Given the description of an element on the screen output the (x, y) to click on. 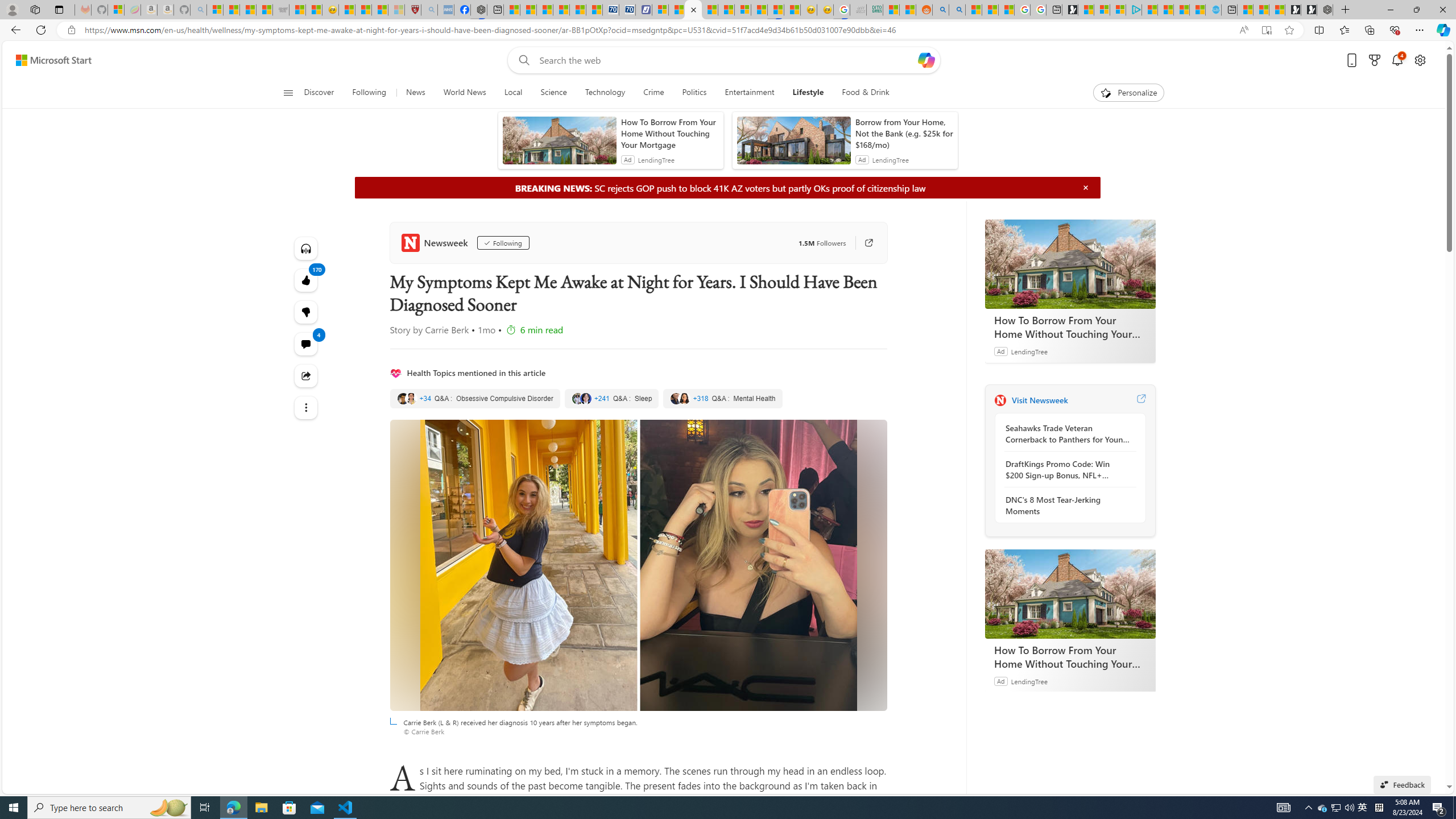
Mental Health (722, 398)
Class: button-glyph (287, 92)
Entertainment (749, 92)
Food & Drink (865, 92)
170 Like (305, 279)
DNC's 8 Most Tear-Jerking Moments (1066, 504)
DITOGAMES AG Imprint (874, 9)
Play Free Online Games | Games from Microsoft Start (1308, 9)
Newsweek (1000, 399)
How To Borrow From Your Home Without Touching Your Mortgage (1069, 656)
Sleep (611, 398)
